Given the description of an element on the screen output the (x, y) to click on. 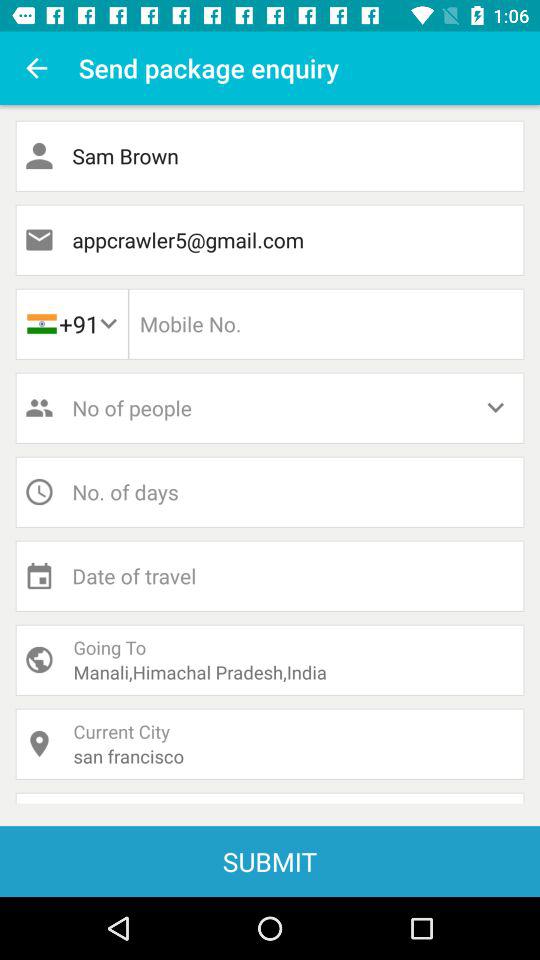
type phone number (326, 323)
